Given the description of an element on the screen output the (x, y) to click on. 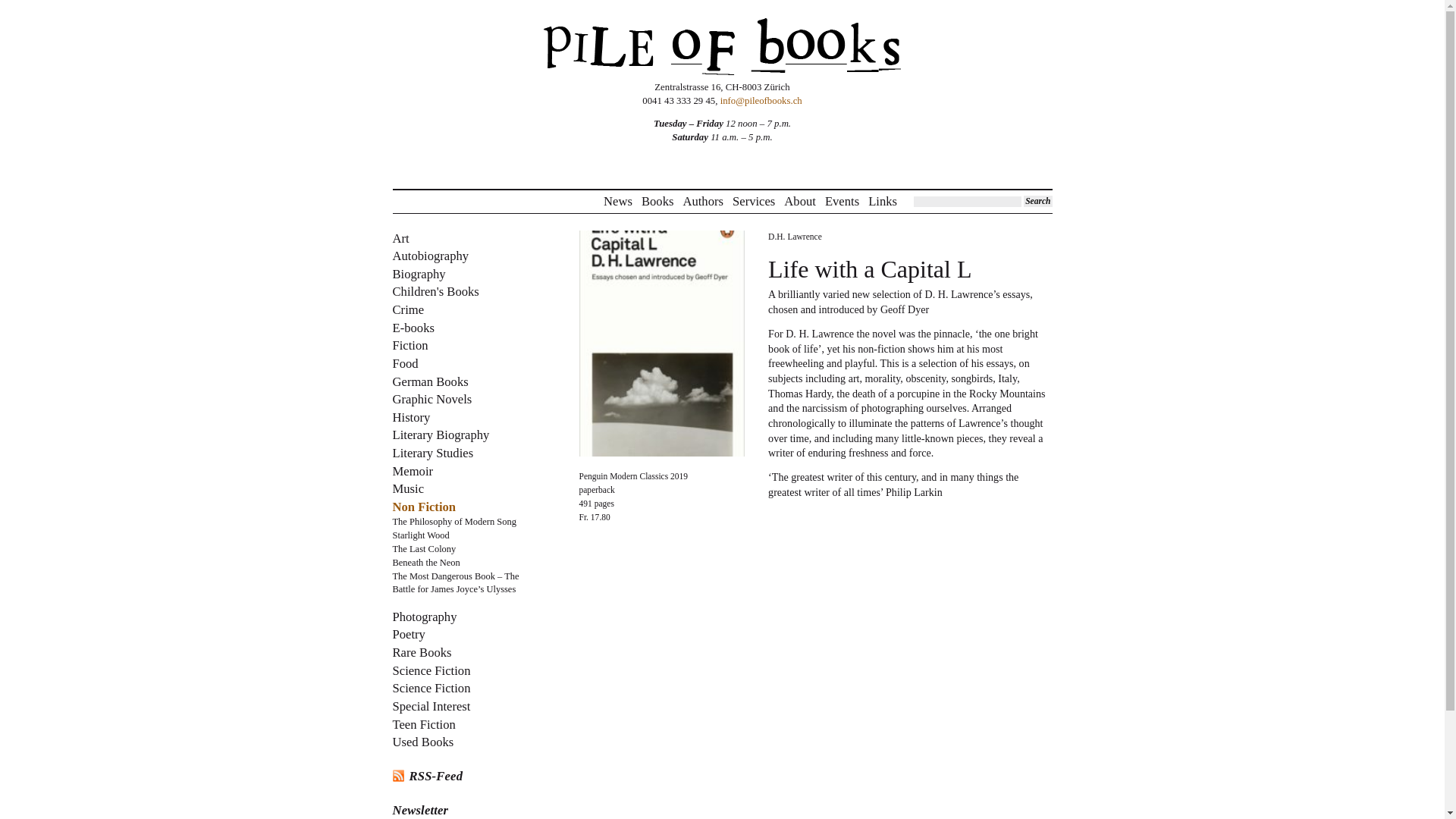
Memoir (413, 471)
E-books (413, 327)
Music (409, 488)
Search (1037, 201)
Food (406, 363)
Non Fiction (425, 506)
Links (881, 201)
Autobiography (430, 255)
The Philosophy of Modern Song (454, 521)
News (617, 201)
Photography (425, 616)
About (799, 201)
Fiction (410, 345)
German Books (430, 381)
Art (401, 237)
